Given the description of an element on the screen output the (x, y) to click on. 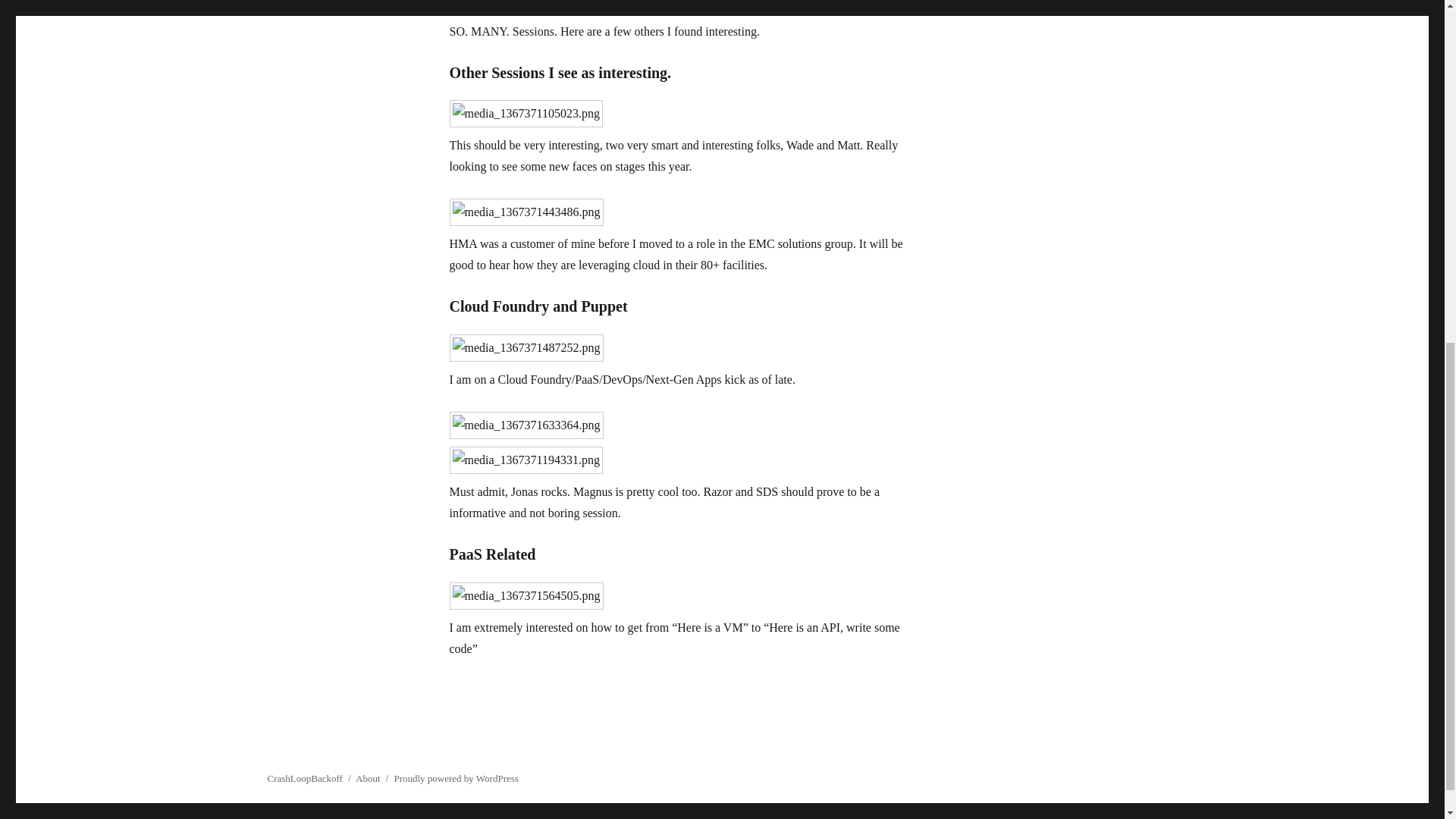
Proudly powered by WordPress (455, 778)
CrashLoopBackoff (304, 778)
About (367, 778)
